Given the description of an element on the screen output the (x, y) to click on. 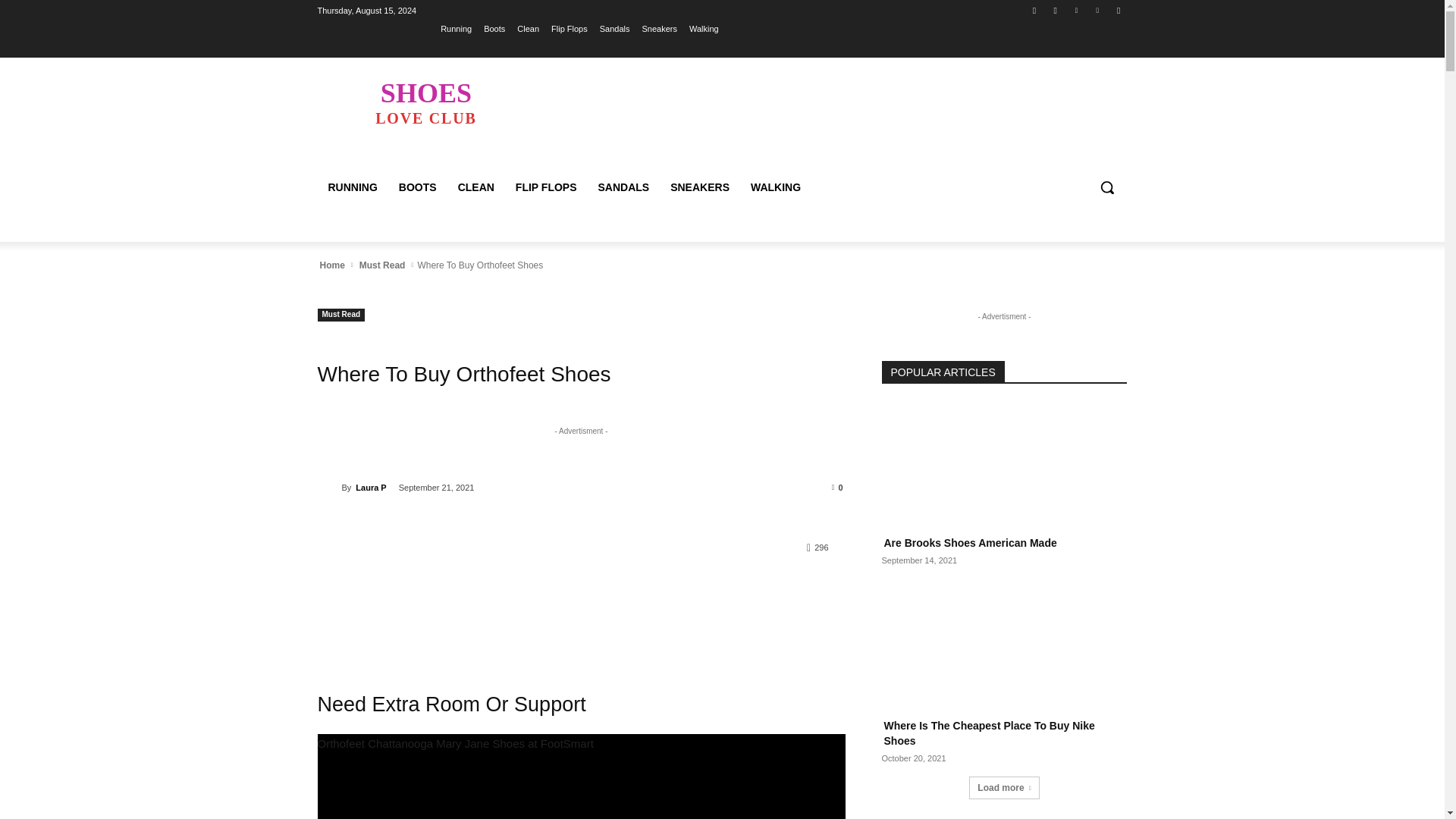
Running (456, 28)
SANDALS (425, 102)
BOOTS (622, 186)
Flip Flops (417, 186)
Sandals (569, 28)
Sneakers (614, 28)
Home (659, 28)
View all posts in Must Read (331, 264)
Walking (381, 264)
